Given the description of an element on the screen output the (x, y) to click on. 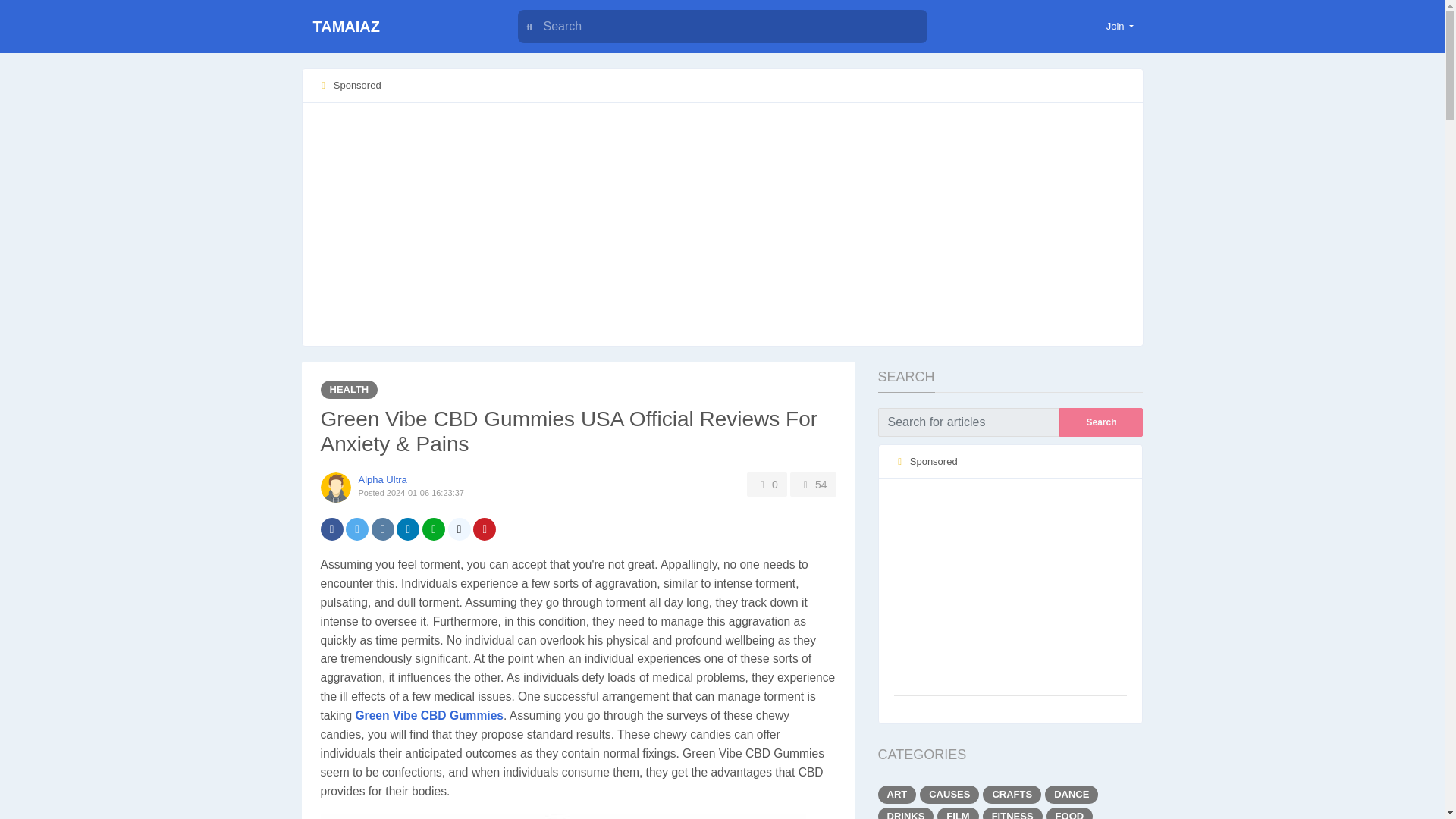
Advertisement (1009, 588)
Green Vibe CBD Gummies (429, 715)
Alpha Ultra (382, 479)
TAMAIAZ (396, 26)
HEALTH (348, 389)
0 (766, 484)
Join (1119, 26)
